Given the description of an element on the screen output the (x, y) to click on. 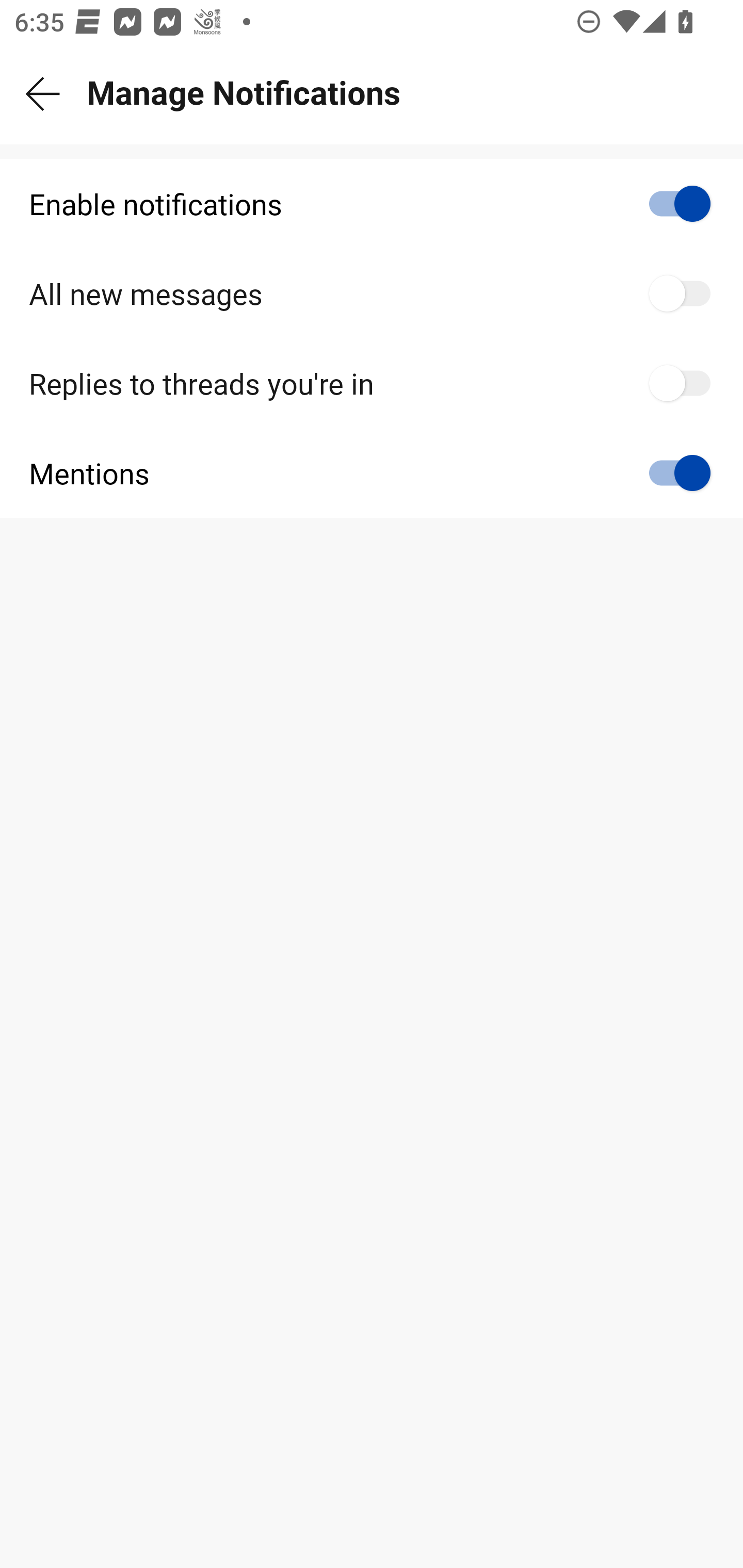
Back (43, 93)
Enable notifications (371, 203)
All new messages (371, 293)
Replies to threads you're in (371, 383)
Mentions (371, 472)
